Given the description of an element on the screen output the (x, y) to click on. 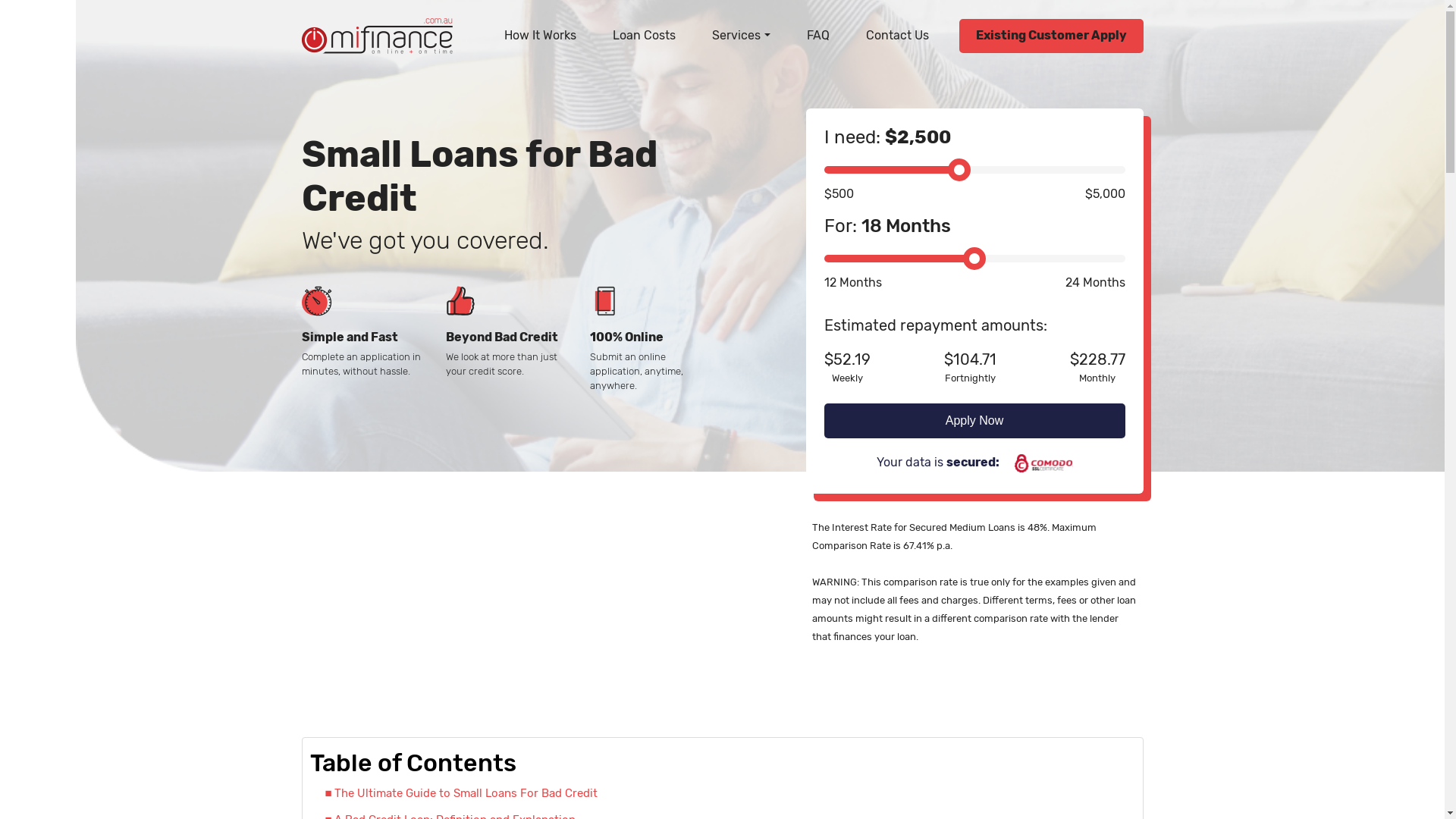
Existing Customer Apply Element type: text (1050, 35)
The Ultimate Guide to Small Loans For Bad Credit Element type: text (460, 793)
How It Works Element type: text (540, 34)
Services Element type: text (740, 34)
Contact Us Element type: text (897, 34)
Apply Now Element type: text (973, 420)
FAQ Element type: text (817, 34)
Loan Costs Element type: text (643, 34)
